Given the description of an element on the screen output the (x, y) to click on. 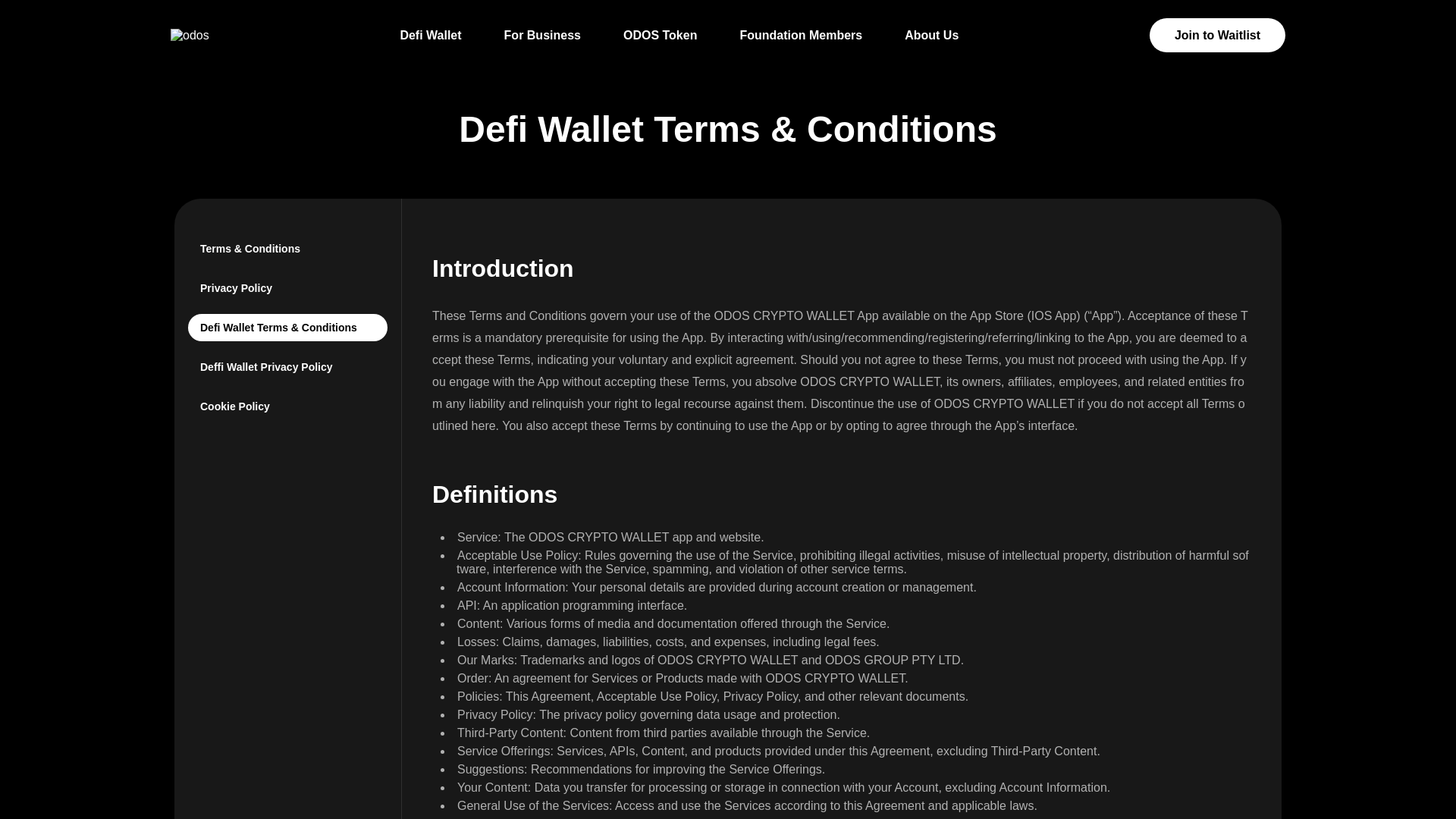
For Business (541, 35)
Foundation Members (800, 35)
ODOS Token (660, 35)
Privacy Policy (287, 288)
Join to Waitlist (1217, 35)
About Us (931, 35)
Cookie Policy (287, 406)
Defi Wallet (429, 35)
Deffi Wallet Privacy Policy (287, 366)
